Given the description of an element on the screen output the (x, y) to click on. 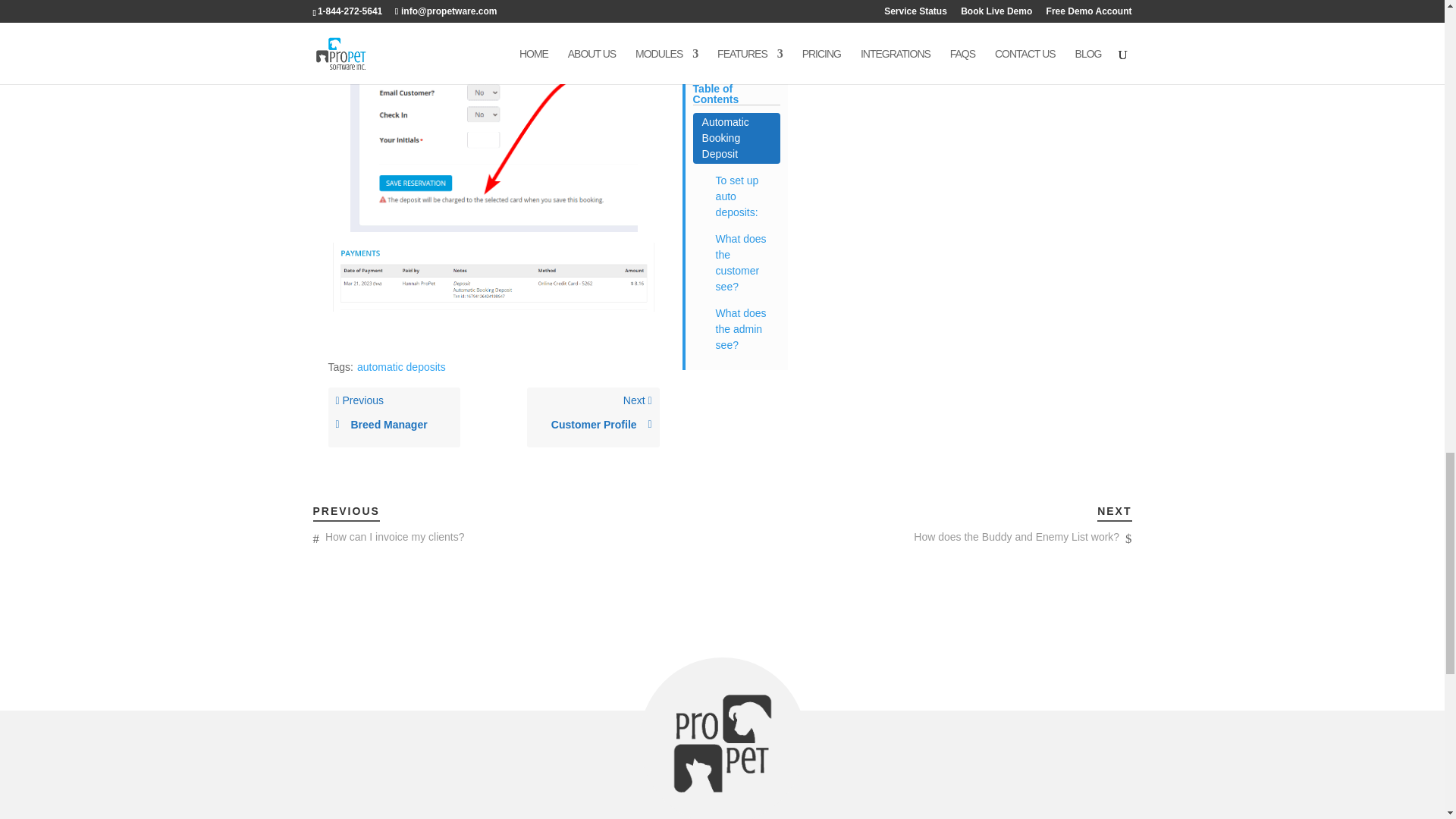
Customer Profile (593, 424)
propet-website-footer-logo-383838 (721, 743)
Breed Manager (393, 424)
